Given the description of an element on the screen output the (x, y) to click on. 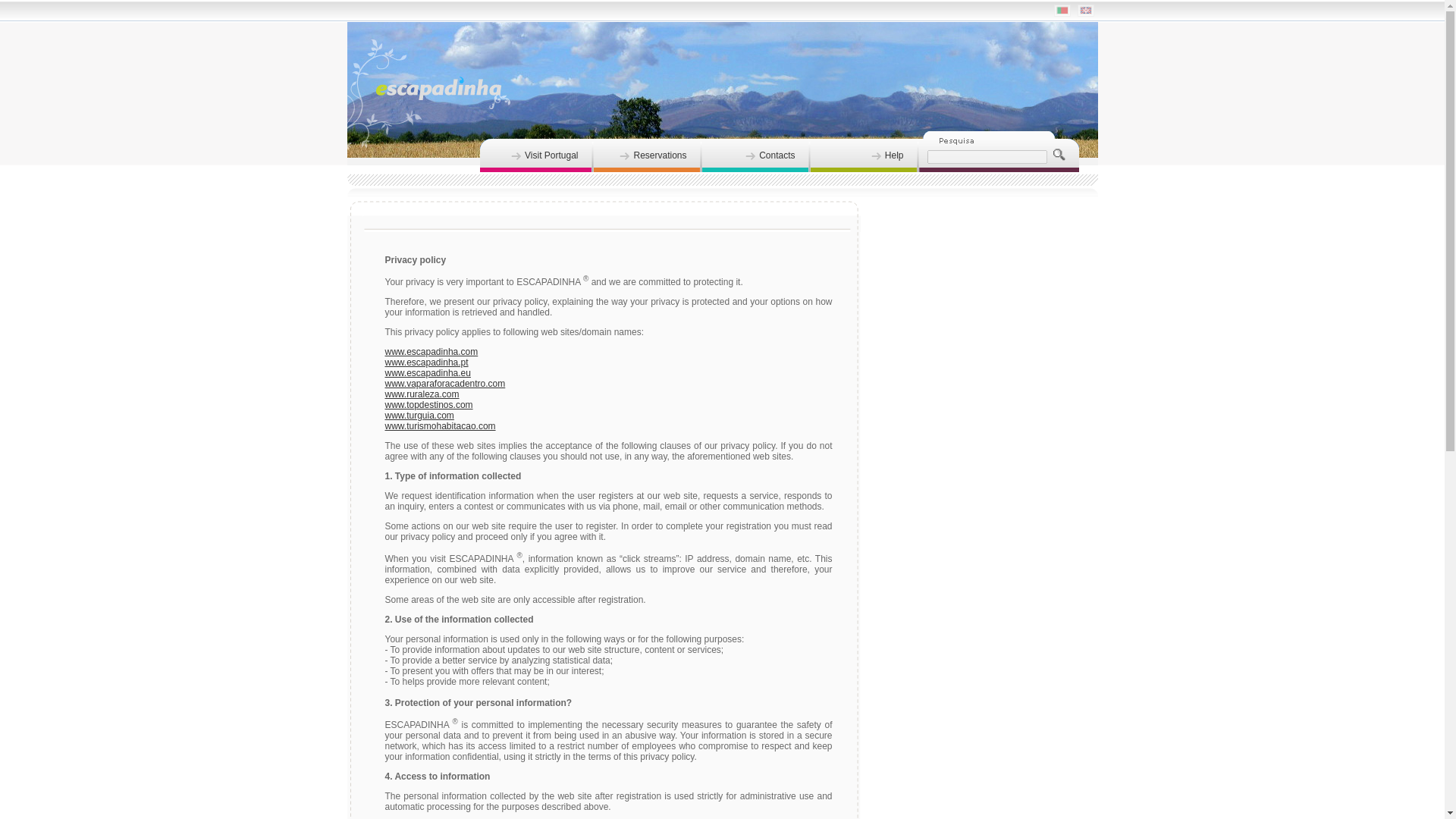
www.escapadinha.pt (426, 362)
www.topdestinos.com (429, 404)
www.escapadinha.eu (427, 372)
www.turismohabitacao.com (440, 425)
www.escapadinha.com (432, 351)
www.turguia.com (419, 415)
Contacts (755, 154)
Reservations (646, 154)
www.vaparaforacadentro.com (445, 383)
Visit Portugal (535, 154)
